Given the description of an element on the screen output the (x, y) to click on. 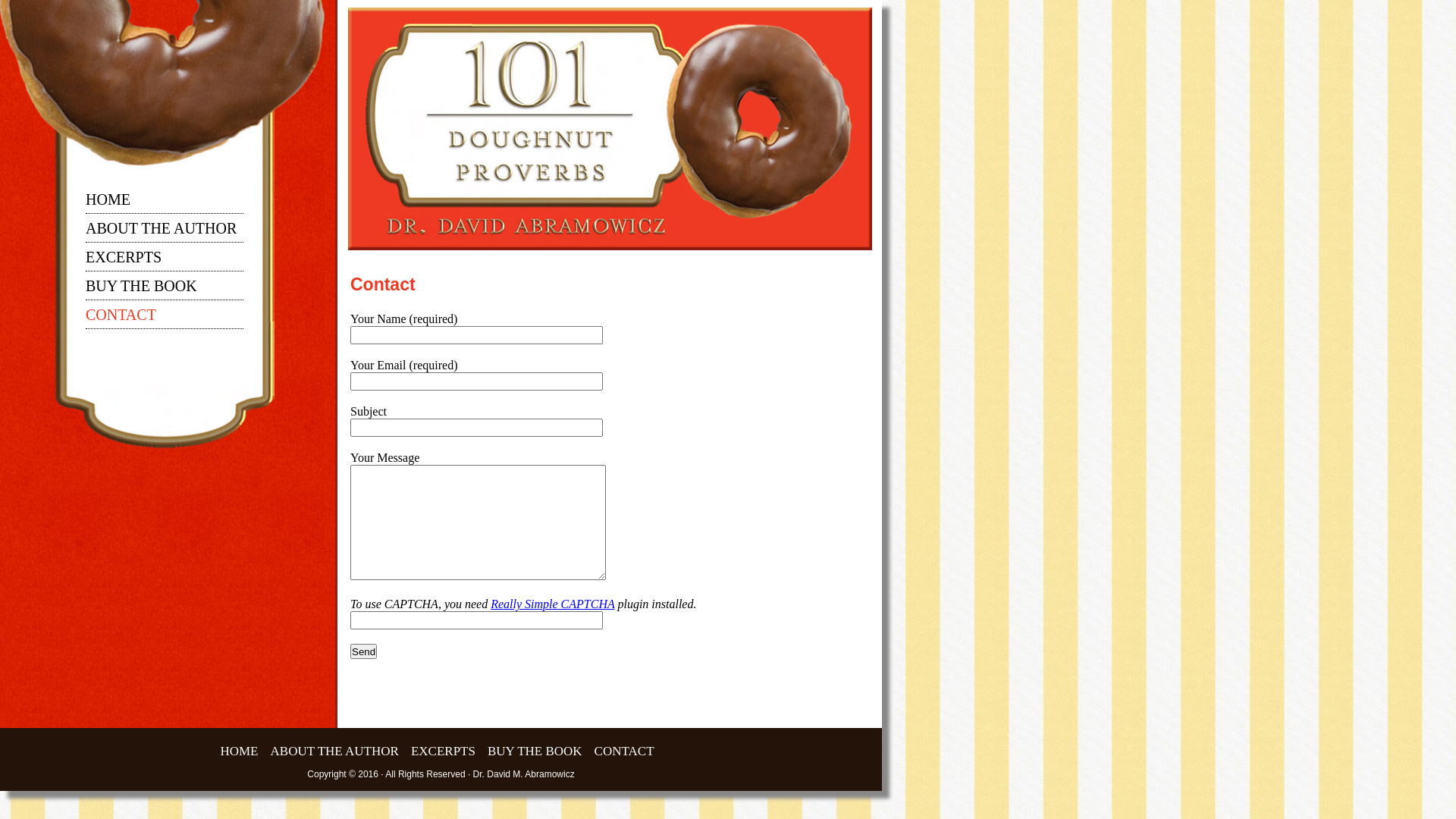
BUY THE BOOK Element type: text (141, 289)
EXCERPTS Element type: text (443, 752)
EXCERPTS Element type: text (123, 260)
BUY THE BOOK Element type: text (534, 752)
Really Simple CAPTCHA Element type: text (552, 603)
header-img Element type: hover (610, 128)
ABOUT THE AUTHOR Element type: text (334, 752)
ABOUT THE AUTHOR Element type: text (160, 231)
CONTACT Element type: text (120, 318)
HOME Element type: text (107, 203)
HOME Element type: text (238, 752)
CONTACT Element type: text (624, 752)
Send Element type: text (363, 650)
